Given the description of an element on the screen output the (x, y) to click on. 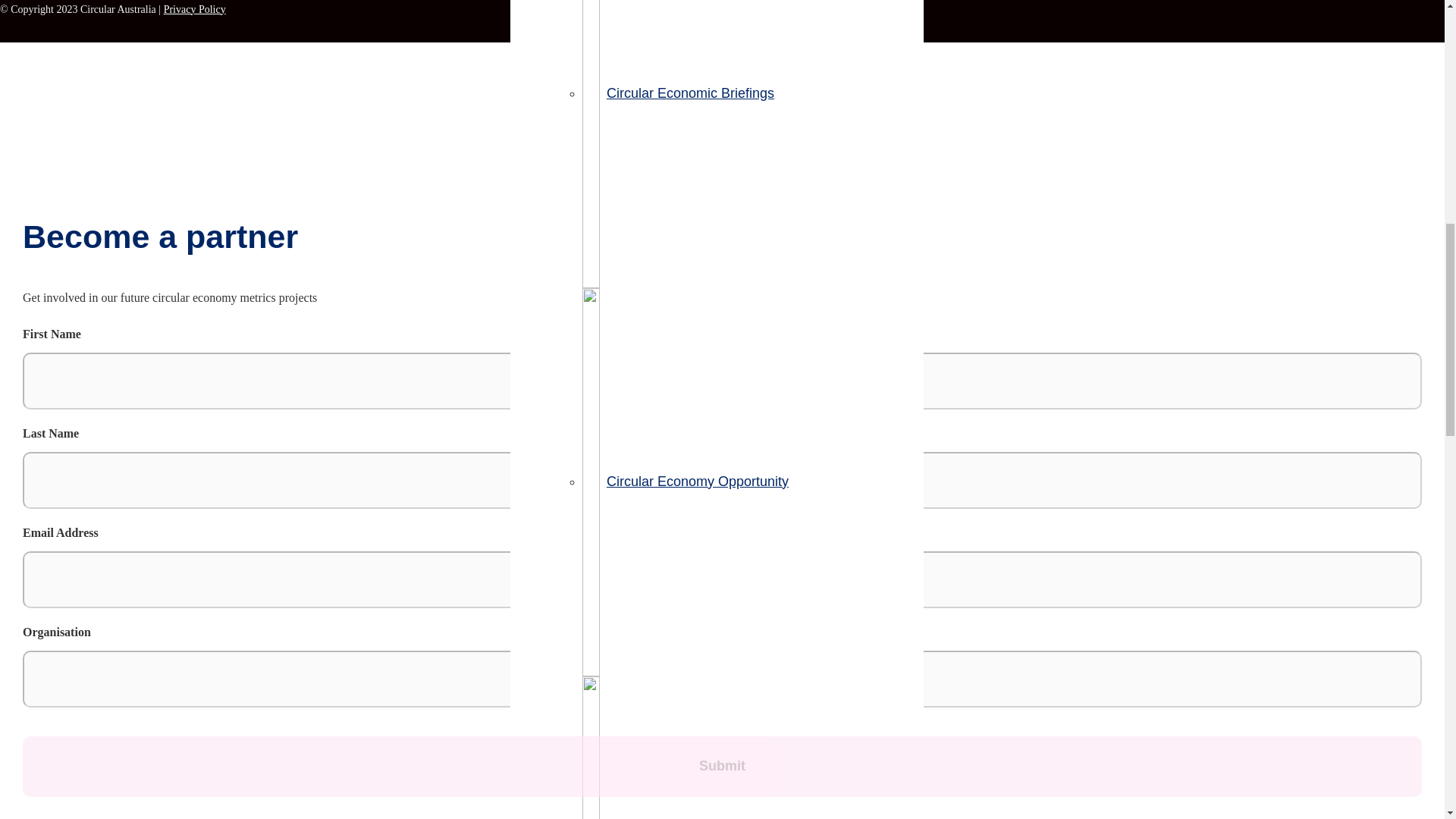
Privacy Policy (194, 9)
Circular Economic Briefings (678, 92)
Submit (722, 766)
Circular Economy Opportunity (685, 481)
Submit (722, 766)
